Given the description of an element on the screen output the (x, y) to click on. 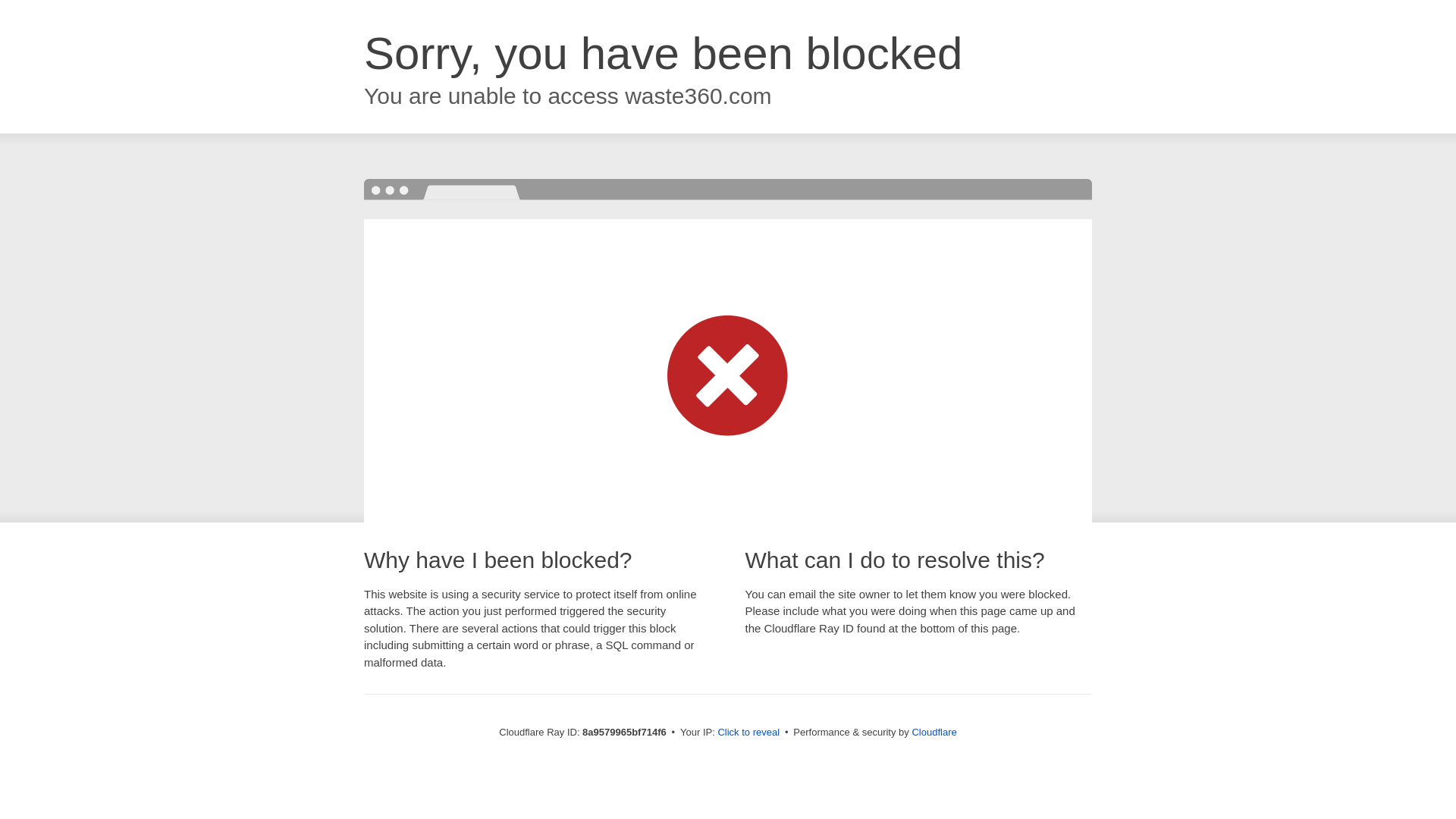
Click to reveal (747, 732)
Cloudflare (933, 731)
